Given the description of an element on the screen output the (x, y) to click on. 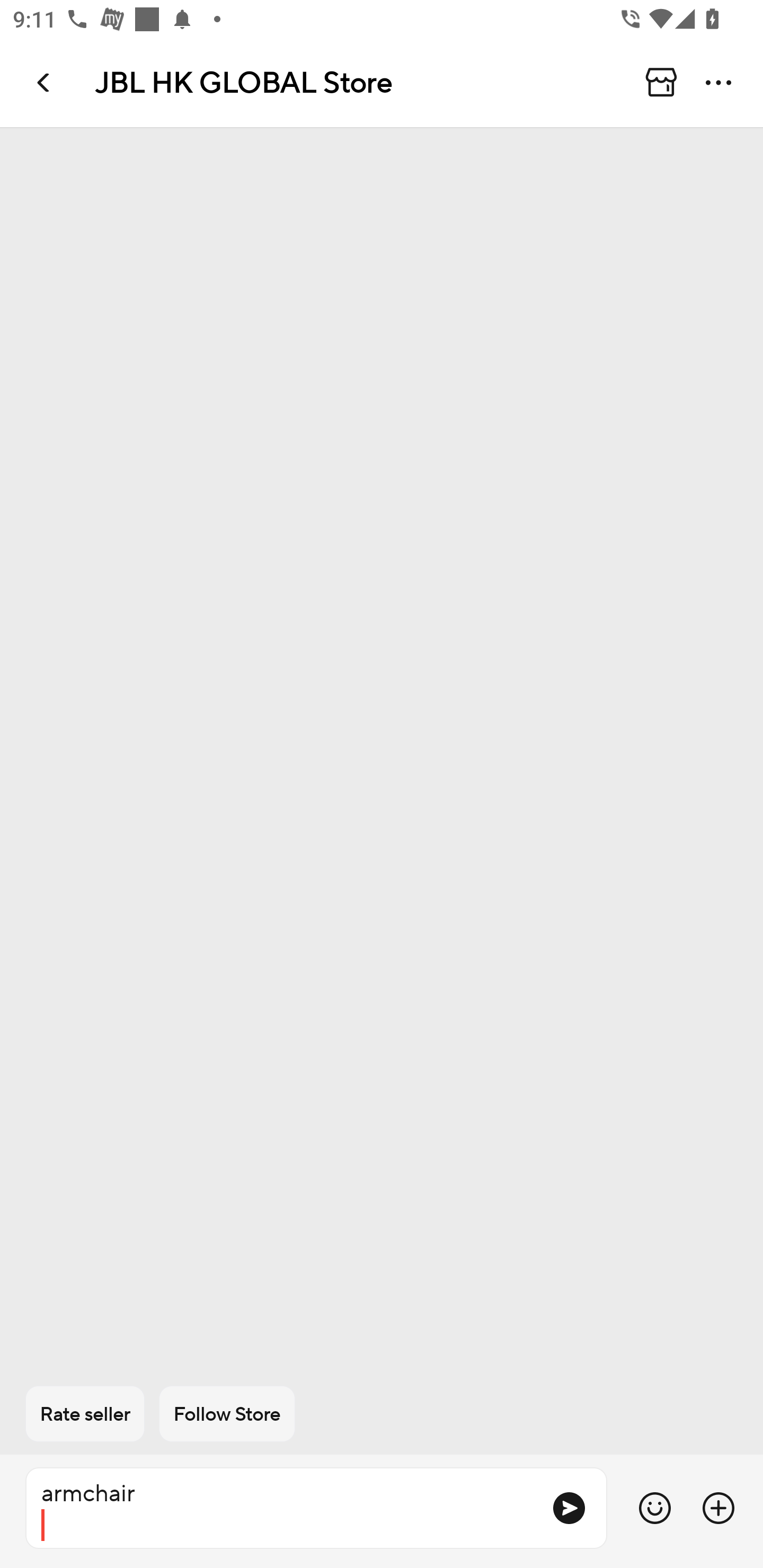
Navigate up (44, 82)
Rate seller (84, 1414)
Follow Store (226, 1414)
armchair
 (281, 1508)
